Given the description of an element on the screen output the (x, y) to click on. 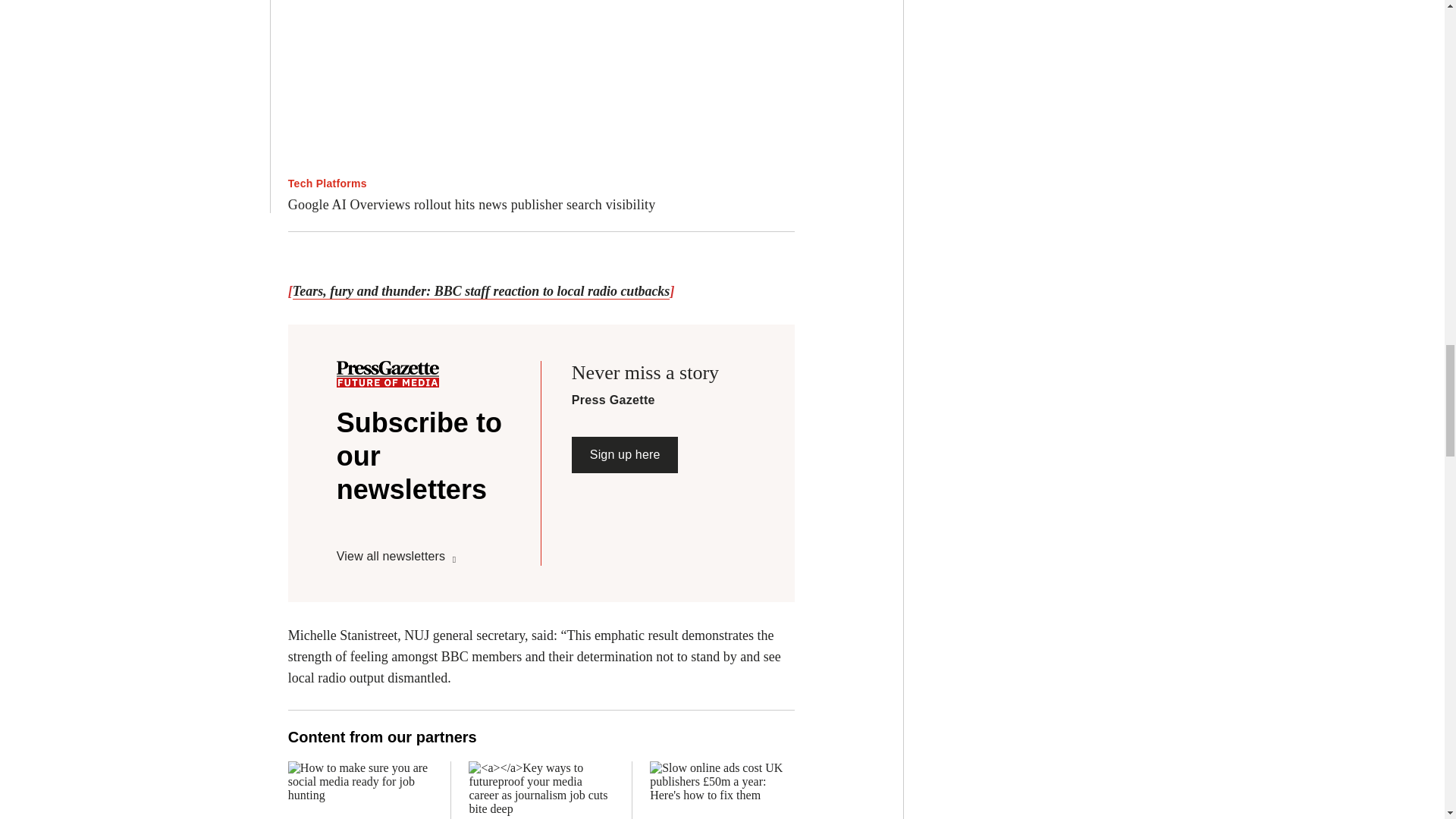
How to make sure you are social media ready for job hunting (360, 790)
Press Gazette  (387, 376)
